Given the description of an element on the screen output the (x, y) to click on. 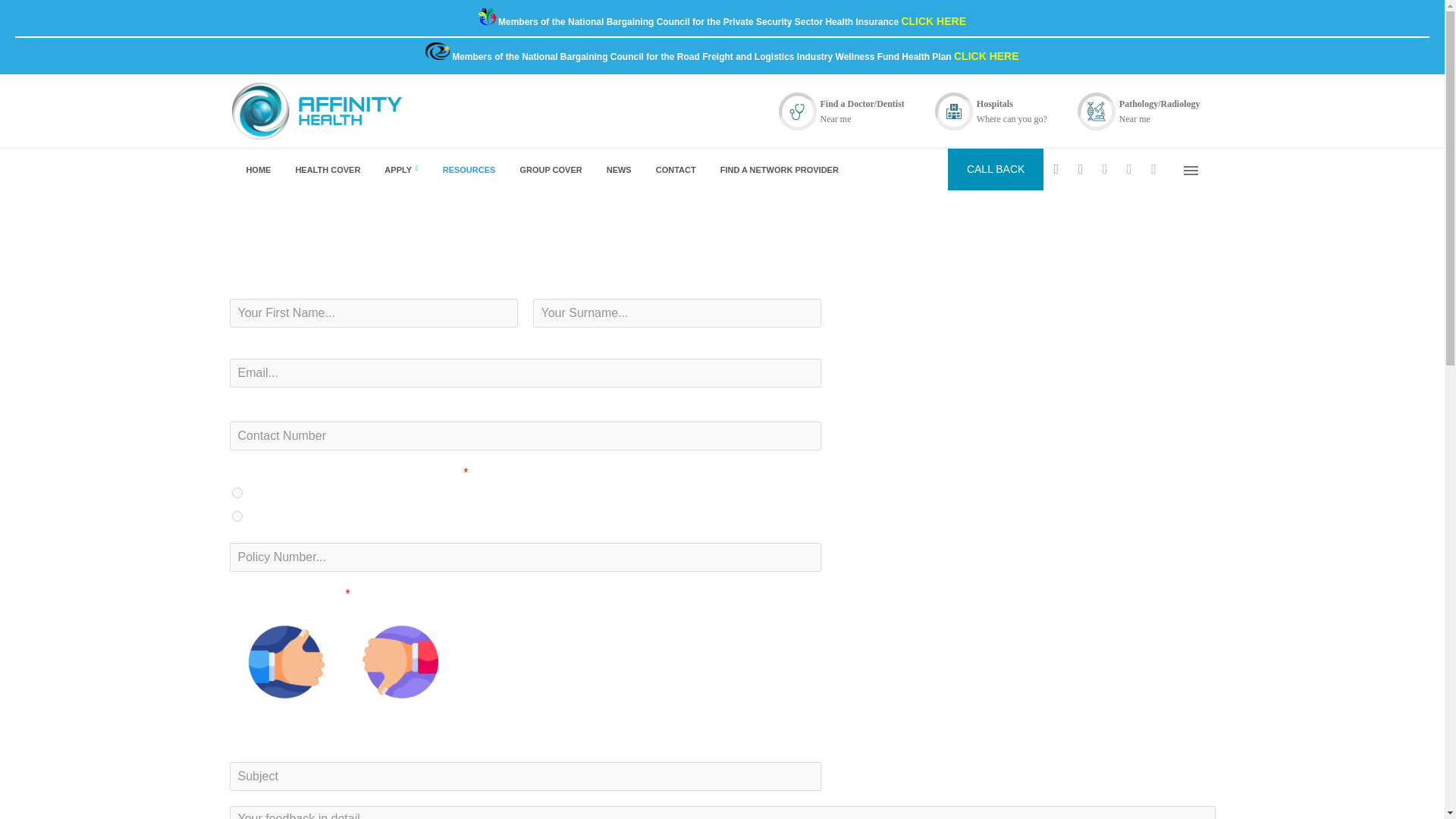
NEWS (617, 169)
No (237, 516)
FIND A NETWORK PROVIDER (777, 169)
APPLY (399, 169)
GROUP COVER (548, 169)
CLICK HERE (986, 55)
CONTACT (674, 169)
HEALTH COVER (326, 169)
Complaint (400, 662)
CLICK HERE (933, 21)
Compliment (286, 662)
RESOURCES (467, 169)
HOME (256, 169)
